Given the description of an element on the screen output the (x, y) to click on. 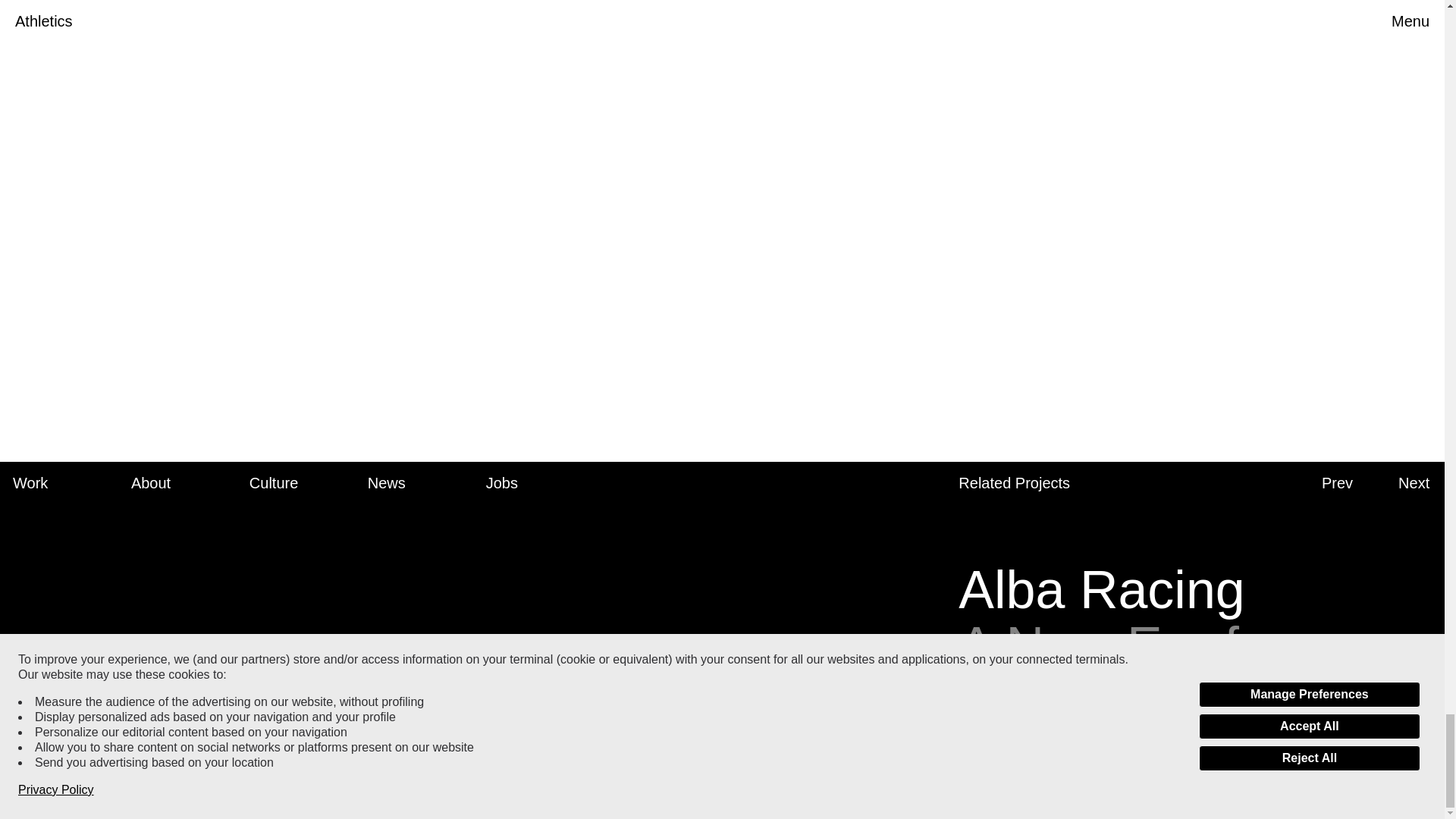
Subscribe (401, 696)
Instagram (46, 746)
About (150, 483)
Jobs (70, 665)
Culture (502, 483)
7:57 AM (273, 483)
Work (40, 695)
News (30, 483)
LinkedIn (387, 483)
Privacy Policy (41, 767)
